Given the description of an element on the screen output the (x, y) to click on. 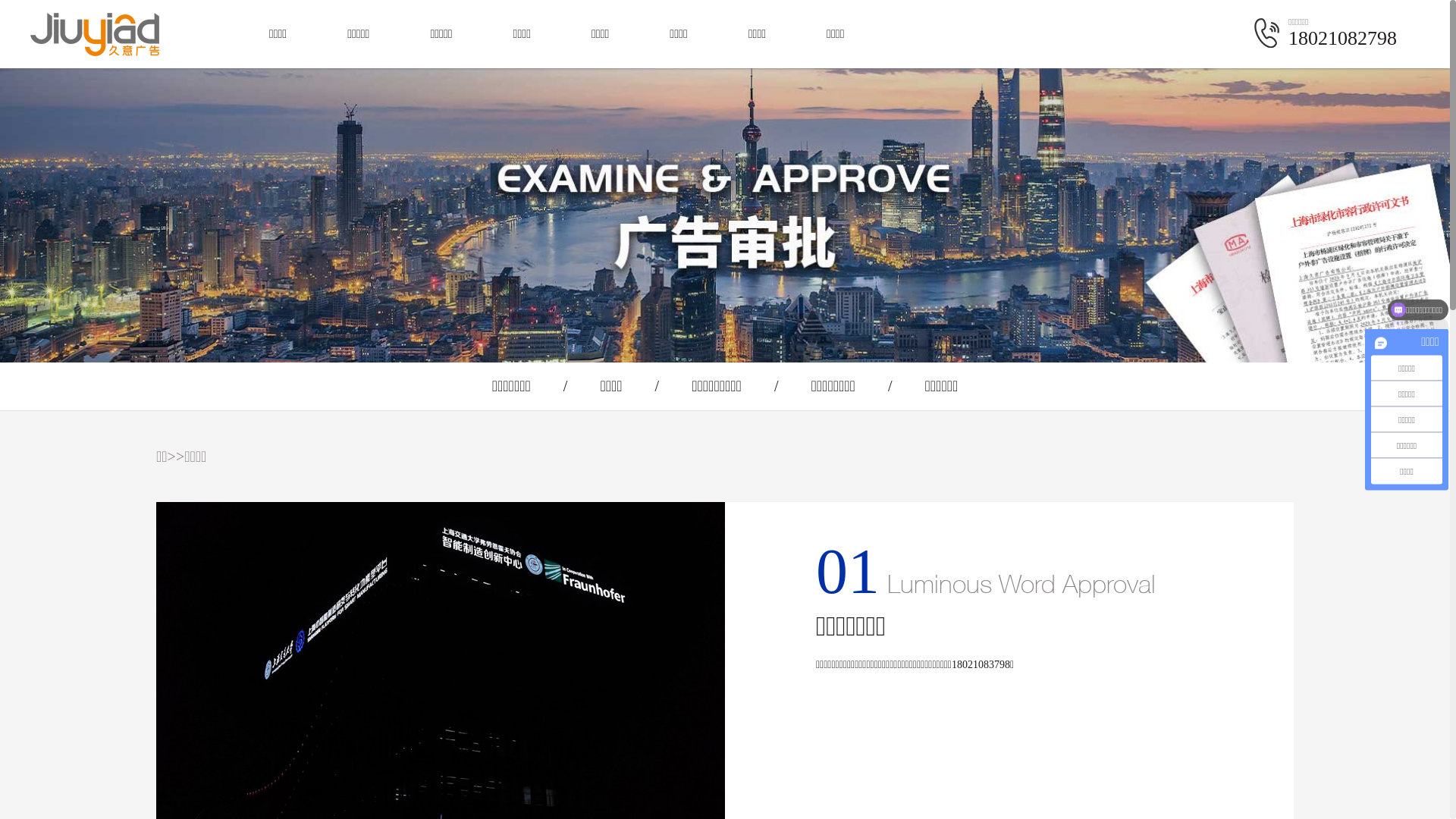
18021082798 Element type: text (1342, 38)
